Given the description of an element on the screen output the (x, y) to click on. 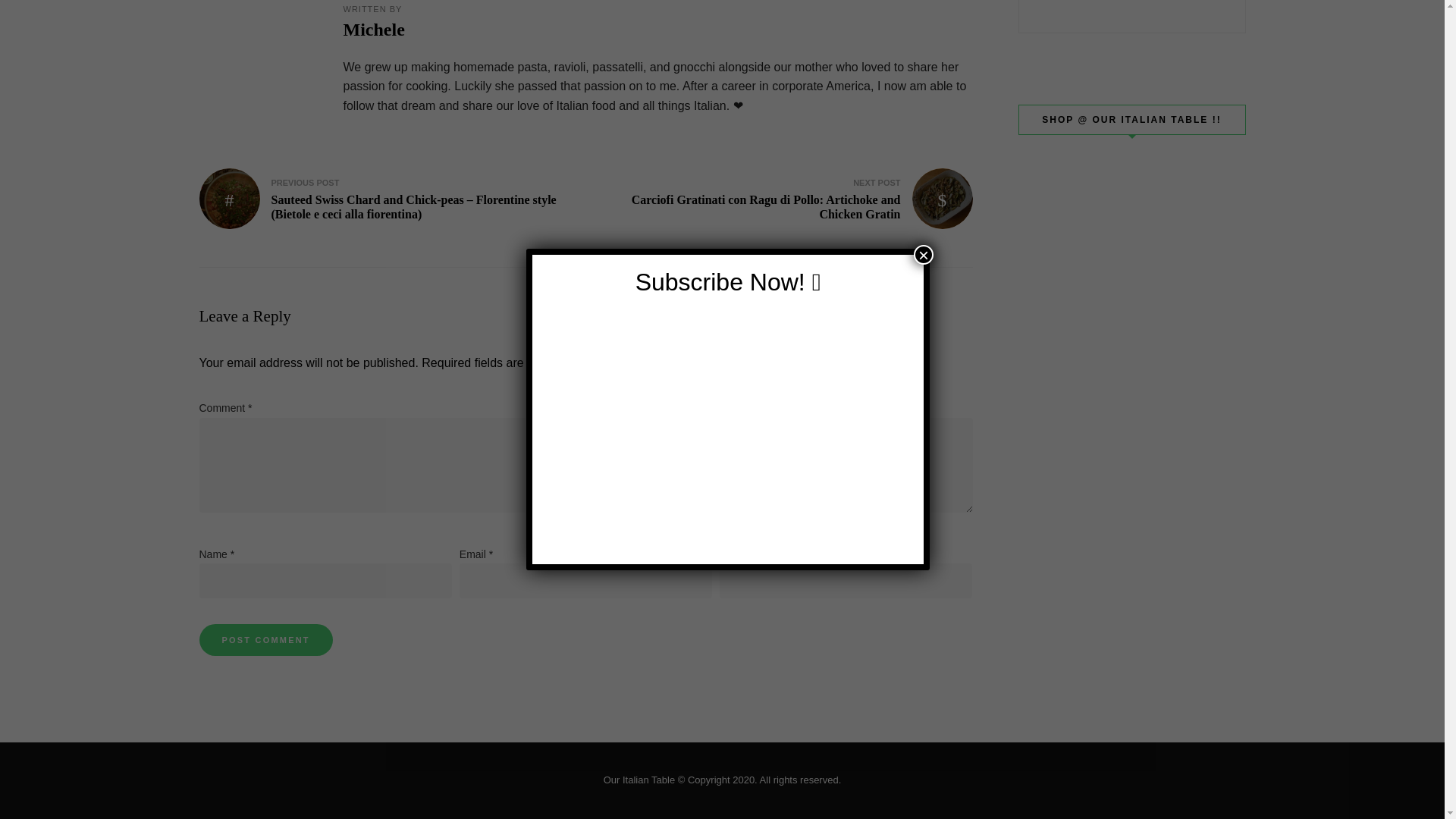
Post Comment (264, 640)
